Given the description of an element on the screen output the (x, y) to click on. 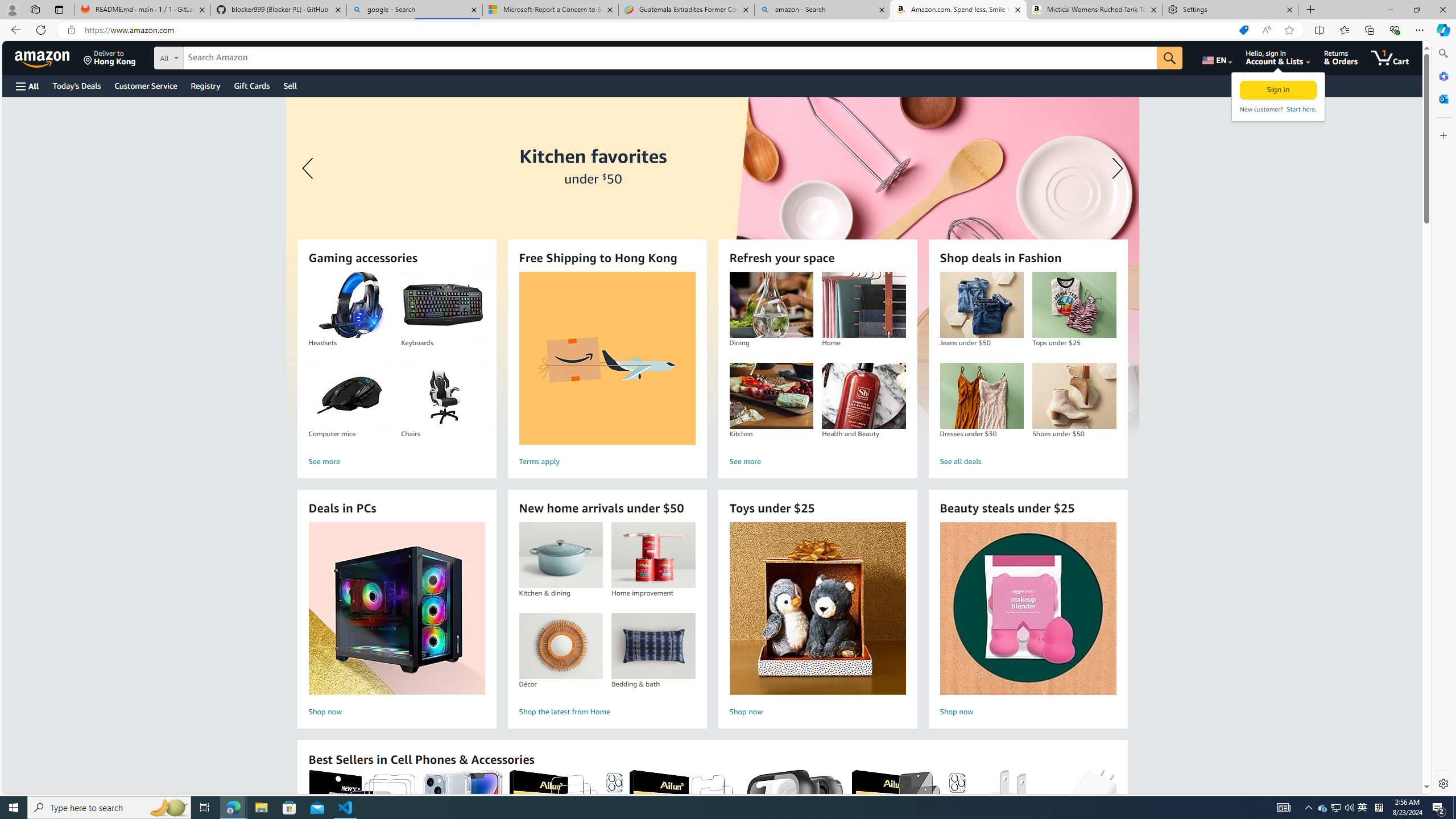
Search in (210, 56)
Shopping in Microsoft Edge (1243, 29)
Kitchen (771, 395)
Computer mice (350, 395)
Home improvement (653, 555)
Browser essentials (1394, 29)
Home (863, 304)
Health and Beauty (863, 395)
Shoes under $50 (1074, 395)
amazon - Search (822, 9)
Search (1442, 53)
